Given the description of an element on the screen output the (x, y) to click on. 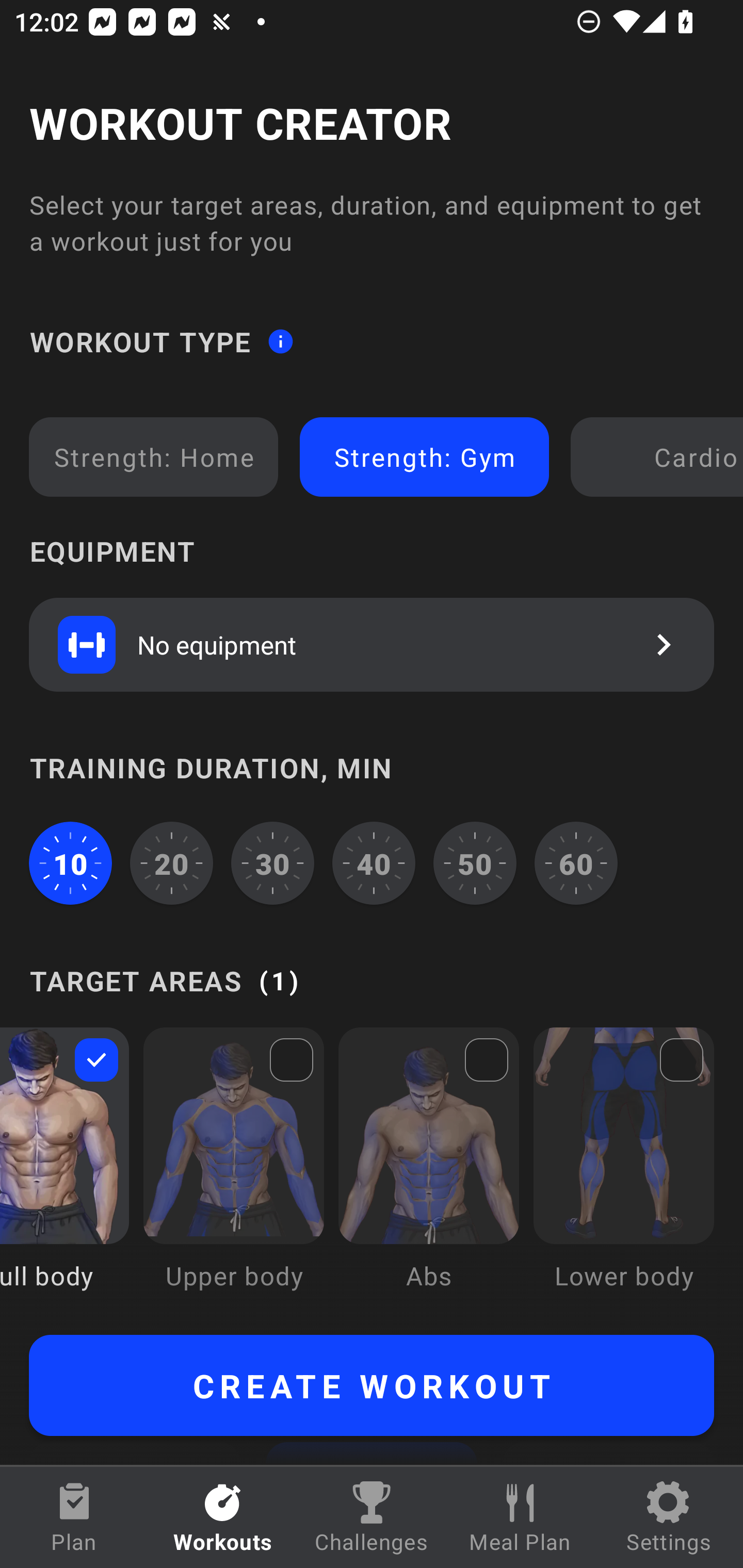
Workout type information button (280, 340)
Strength: Home (153, 457)
Cardio (660, 457)
No equipment (371, 644)
10 (70, 863)
20 (171, 863)
30 (272, 863)
40 (373, 863)
50 (474, 863)
60 (575, 863)
Upper body (233, 1172)
Abs (428, 1172)
Lower body (623, 1172)
CREATE WORKOUT (371, 1385)
 Plan  (74, 1517)
 Challenges  (371, 1517)
 Meal Plan  (519, 1517)
 Settings  (668, 1517)
